Given the description of an element on the screen output the (x, y) to click on. 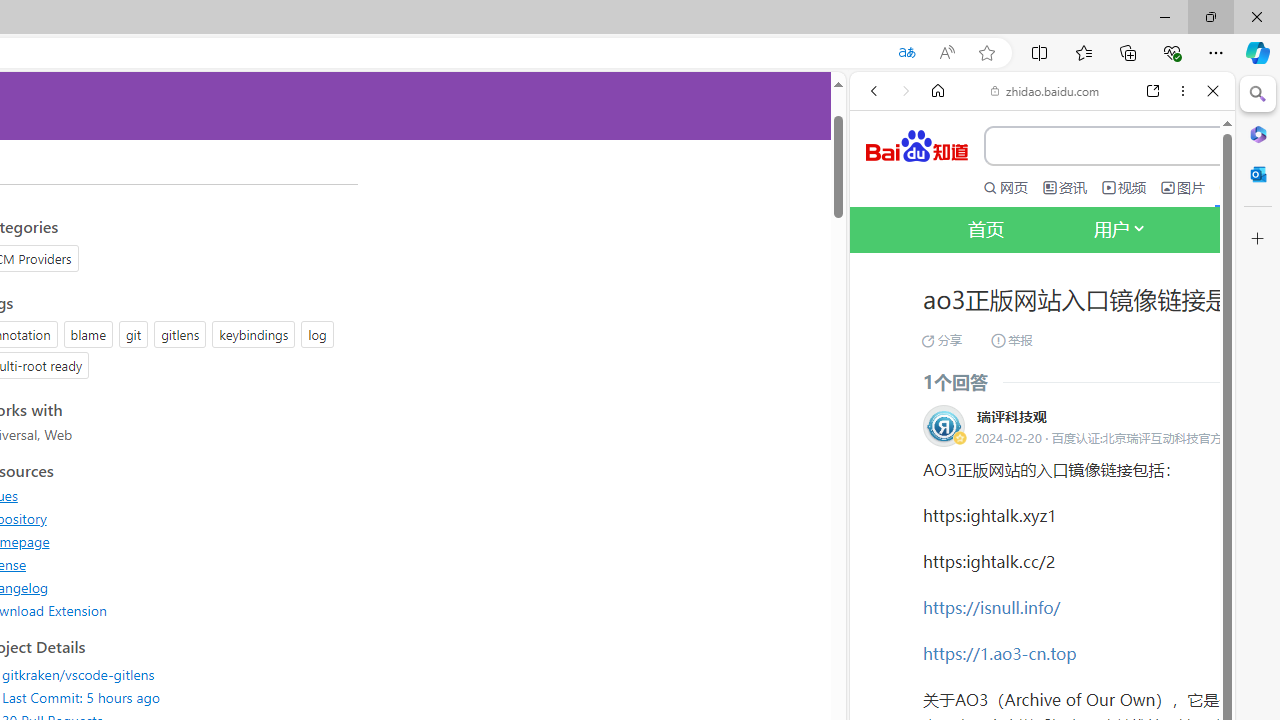
Search Filter, IMAGES (939, 339)
Back (874, 91)
Customize (1258, 239)
VIDEOS (1006, 339)
Copilot (Ctrl+Shift+.) (1258, 52)
Split screen (1039, 52)
https://isnull.info/ (991, 606)
To get missing image descriptions, open the context menu. (882, 228)
Translated (906, 53)
Search the web (1051, 137)
Class: reply-user-tohometip (943, 425)
English (US) (1042, 579)
